Given the description of an element on the screen output the (x, y) to click on. 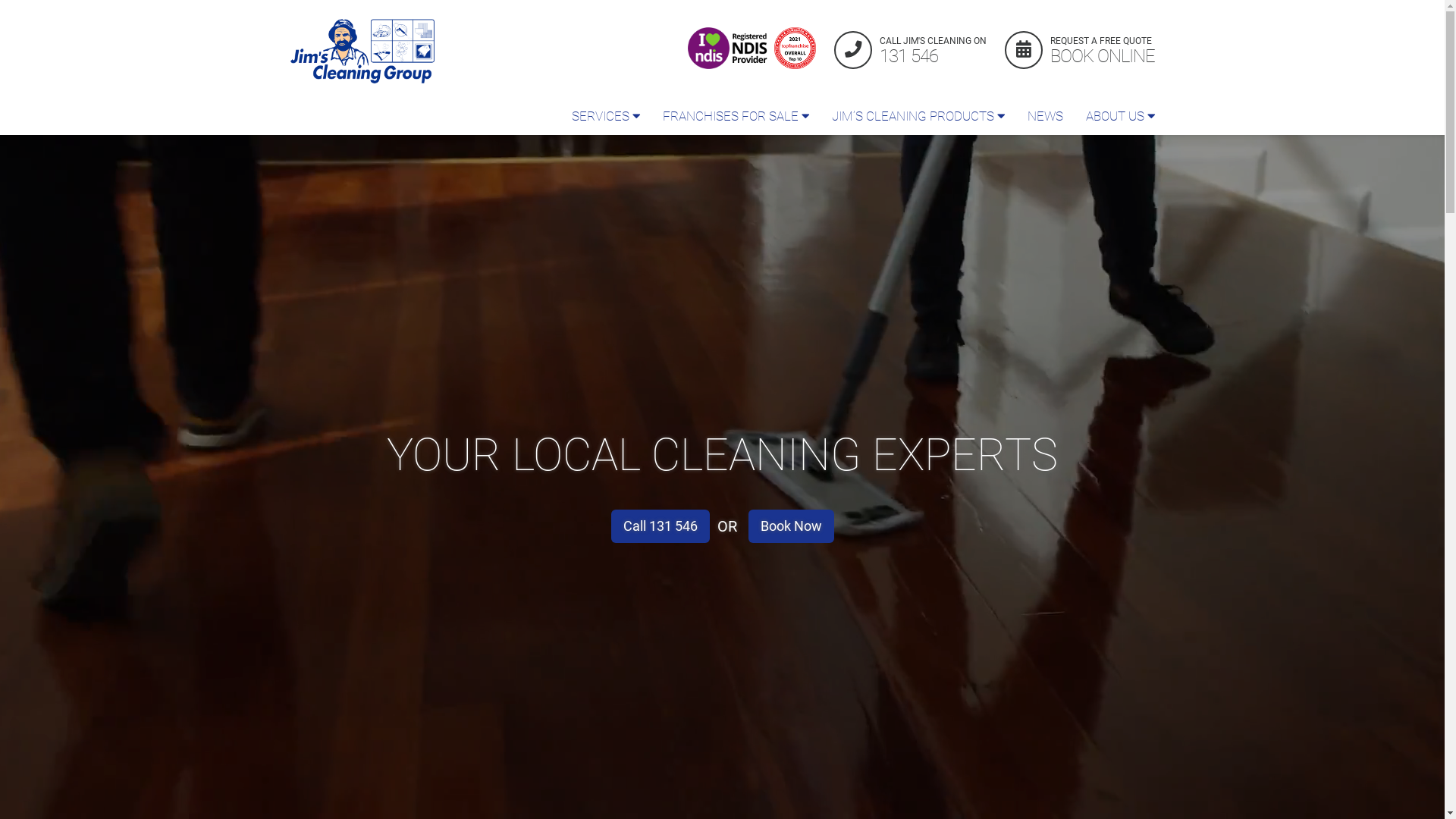
SERVICES Element type: text (604, 115)
Registered NDIS Provider Element type: hover (728, 48)
Call 131 546 Element type: text (660, 525)
FRANCHISES FOR SALE Element type: text (734, 115)
Top Franchise 2020 Overall Ranked #1 Element type: hover (794, 48)
ABOUT US Element type: text (1119, 115)
jims-cleaning-group-logo Element type: hover (361, 50)
NEWS Element type: text (1045, 115)
Book Now Element type: text (790, 525)
